Given the description of an element on the screen output the (x, y) to click on. 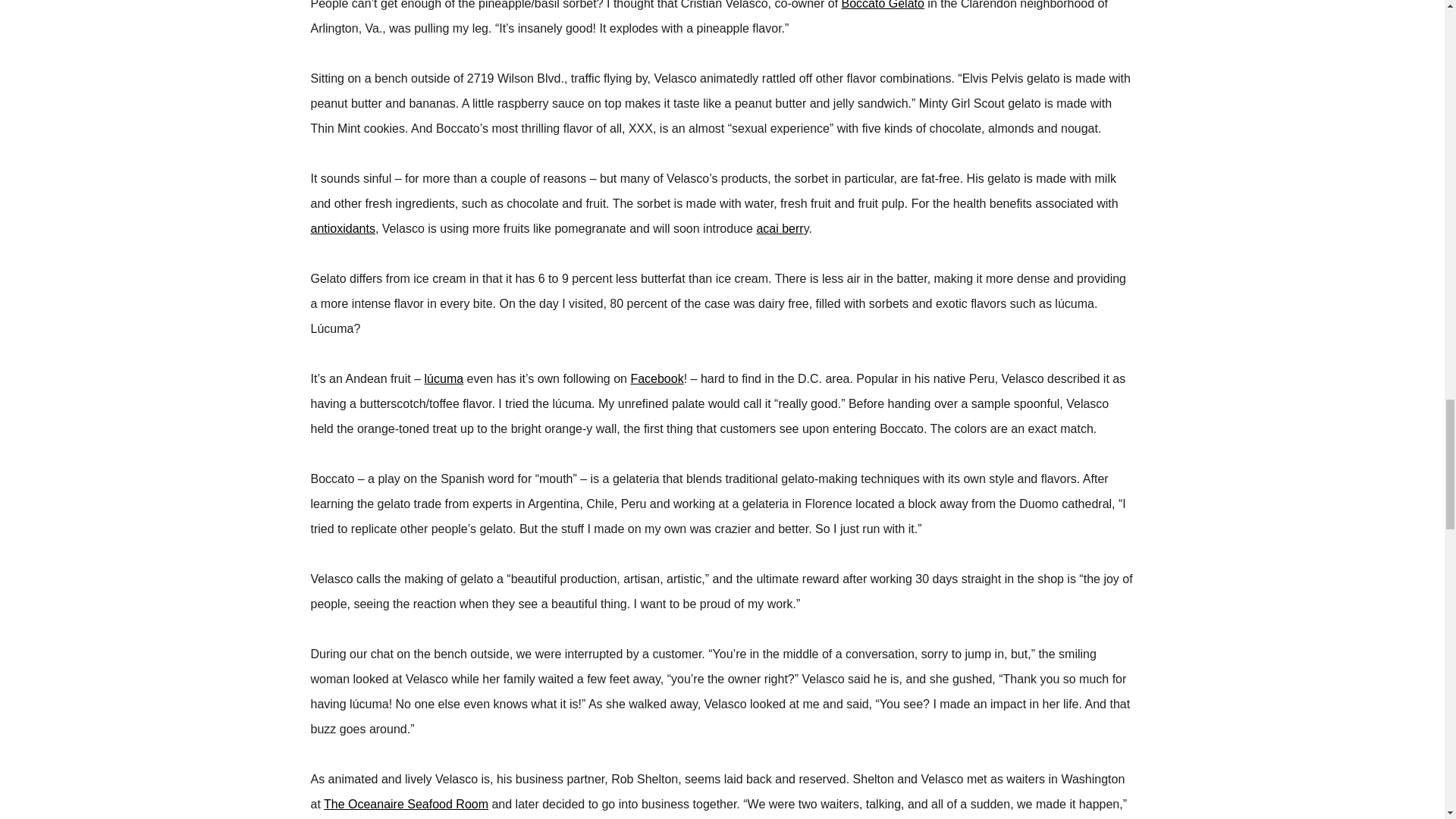
Boccato Gelato (882, 4)
acai berr (779, 228)
antioxidants (343, 228)
The Oceanaire Seafood Room (405, 803)
Facebook (656, 378)
